Given the description of an element on the screen output the (x, y) to click on. 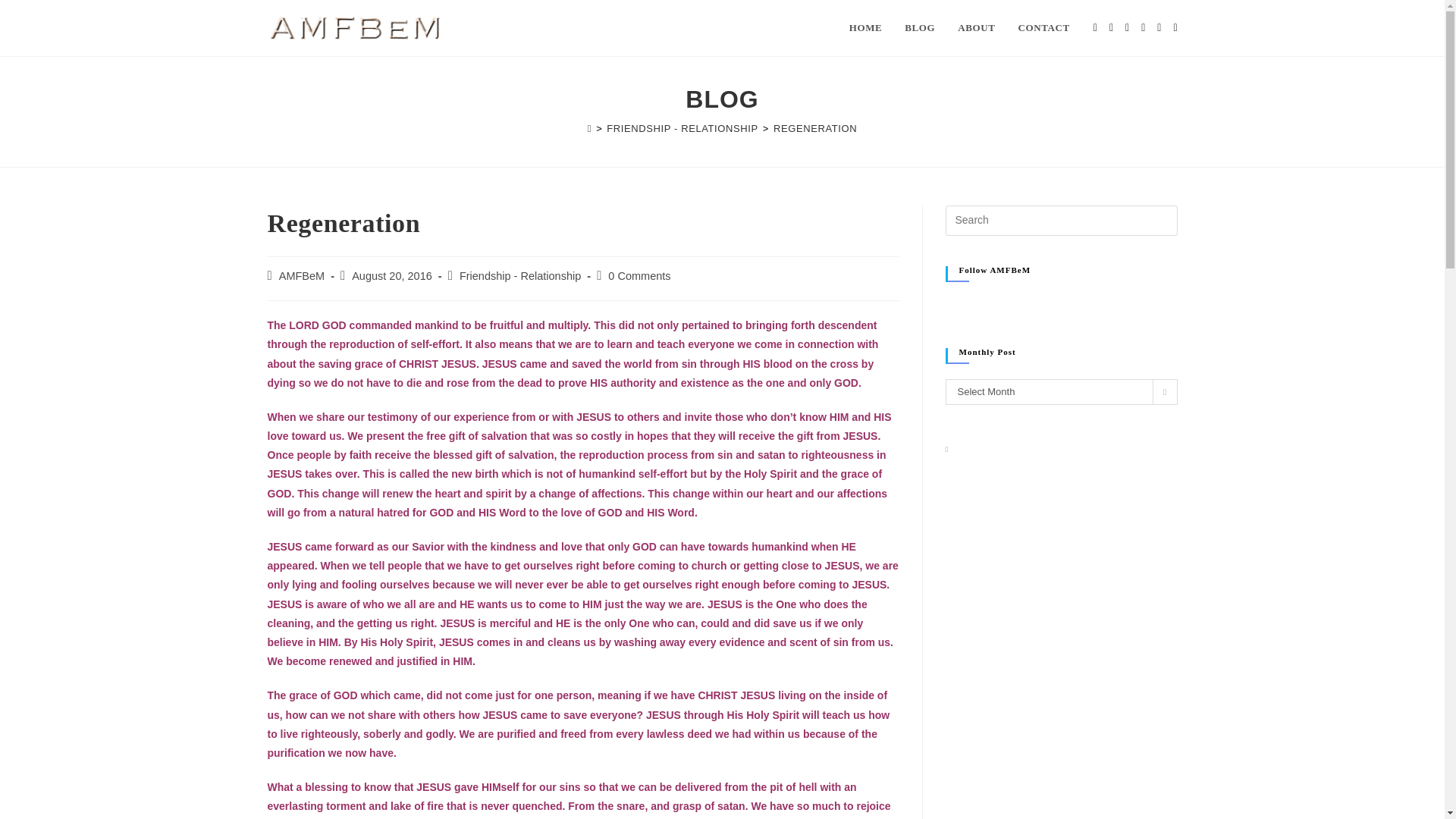
Posts by AMFBeM (301, 275)
FRIENDSHIP - RELATIONSHIP (682, 128)
CONTACT (1044, 28)
0 Comments (638, 275)
AMFBeM (301, 275)
REGENERATION (815, 128)
ABOUT (976, 28)
Follow Button (1060, 304)
BLOG (919, 28)
Friendship - Relationship (520, 275)
